Given the description of an element on the screen output the (x, y) to click on. 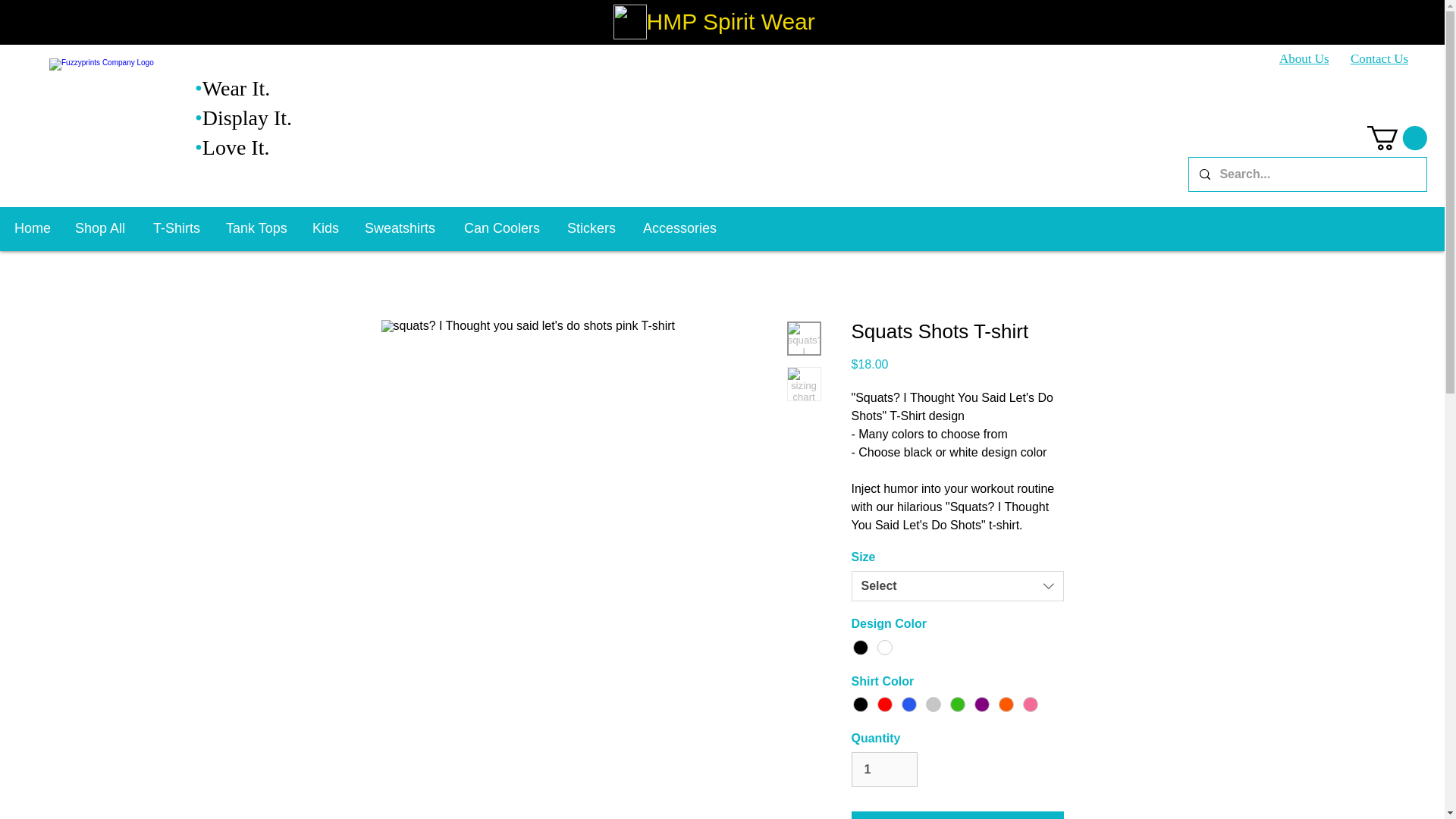
Accessories (683, 228)
Select (956, 585)
Add to Cart (956, 815)
HMP Spirit Wear (729, 21)
Sweatshirts (402, 228)
Tank Tops (257, 228)
1 (883, 769)
Stickers (593, 228)
Home (33, 228)
Shop All (102, 228)
